Given the description of an element on the screen output the (x, y) to click on. 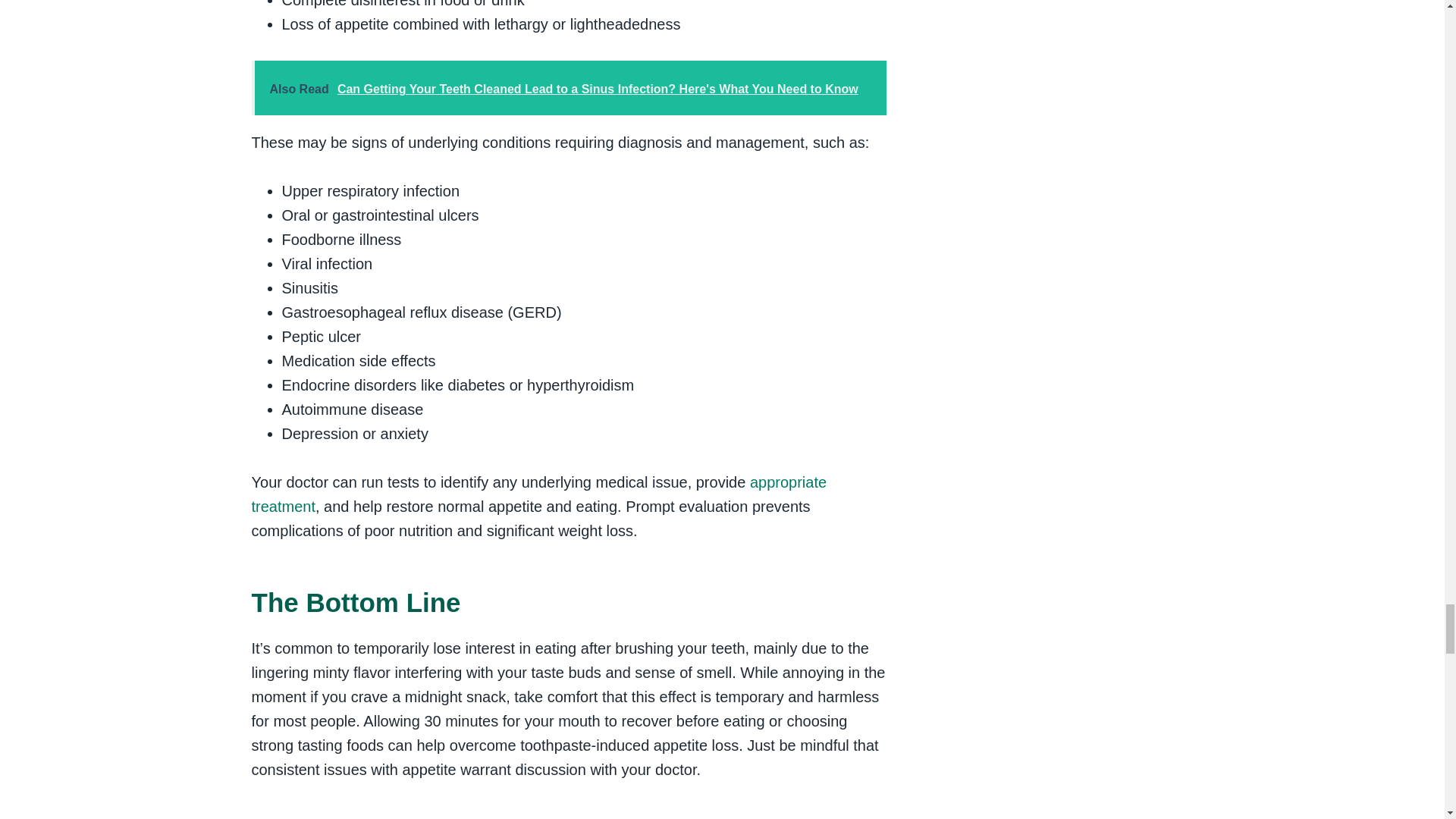
appropriate treatment (539, 494)
